Given the description of an element on the screen output the (x, y) to click on. 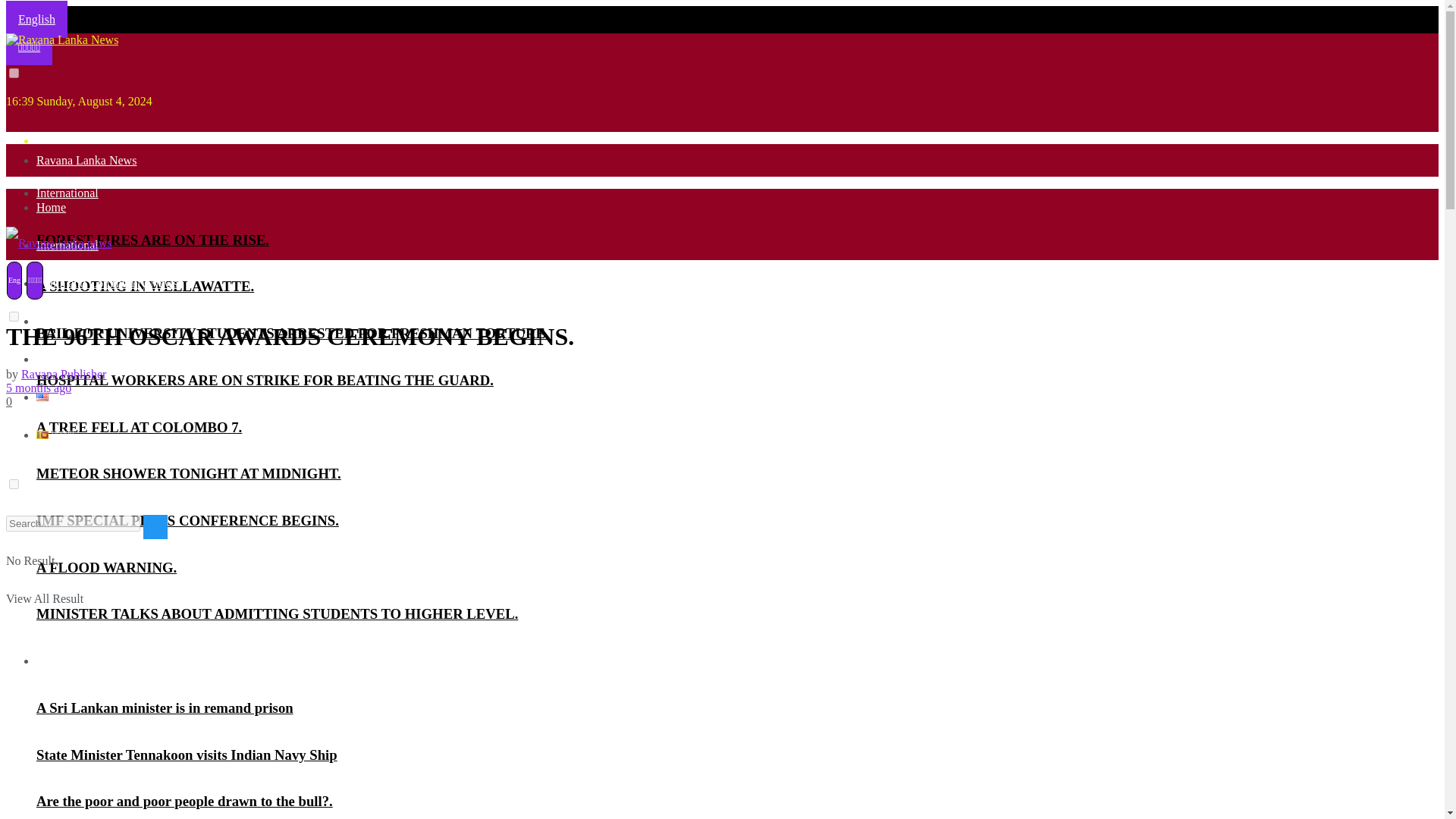
FOREST FIRES ARE ON THE RISE. (152, 239)
METEOR SHOWER TONIGHT AT MIDNIGHT. (188, 473)
A Sri Lankan minister is in remand prison (165, 707)
Ravana Lanka News (86, 160)
HOSPITAL WORKERS ARE ON STRIKE FOR BEATING THE GUARD. (264, 380)
A SHOOTING IN WELLAWATTE. (144, 286)
English (35, 18)
State Minister Tennakoon visits Indian Navy Ship (186, 754)
on (13, 72)
MINISTER TALKS ABOUT ADMITTING STUDENTS TO HIGHER LEVEL. (277, 613)
A TREE FELL AT COLOMBO 7. (138, 426)
International (67, 192)
on (13, 316)
A FLOOD WARNING. (106, 567)
Government (66, 660)
